Given the description of an element on the screen output the (x, y) to click on. 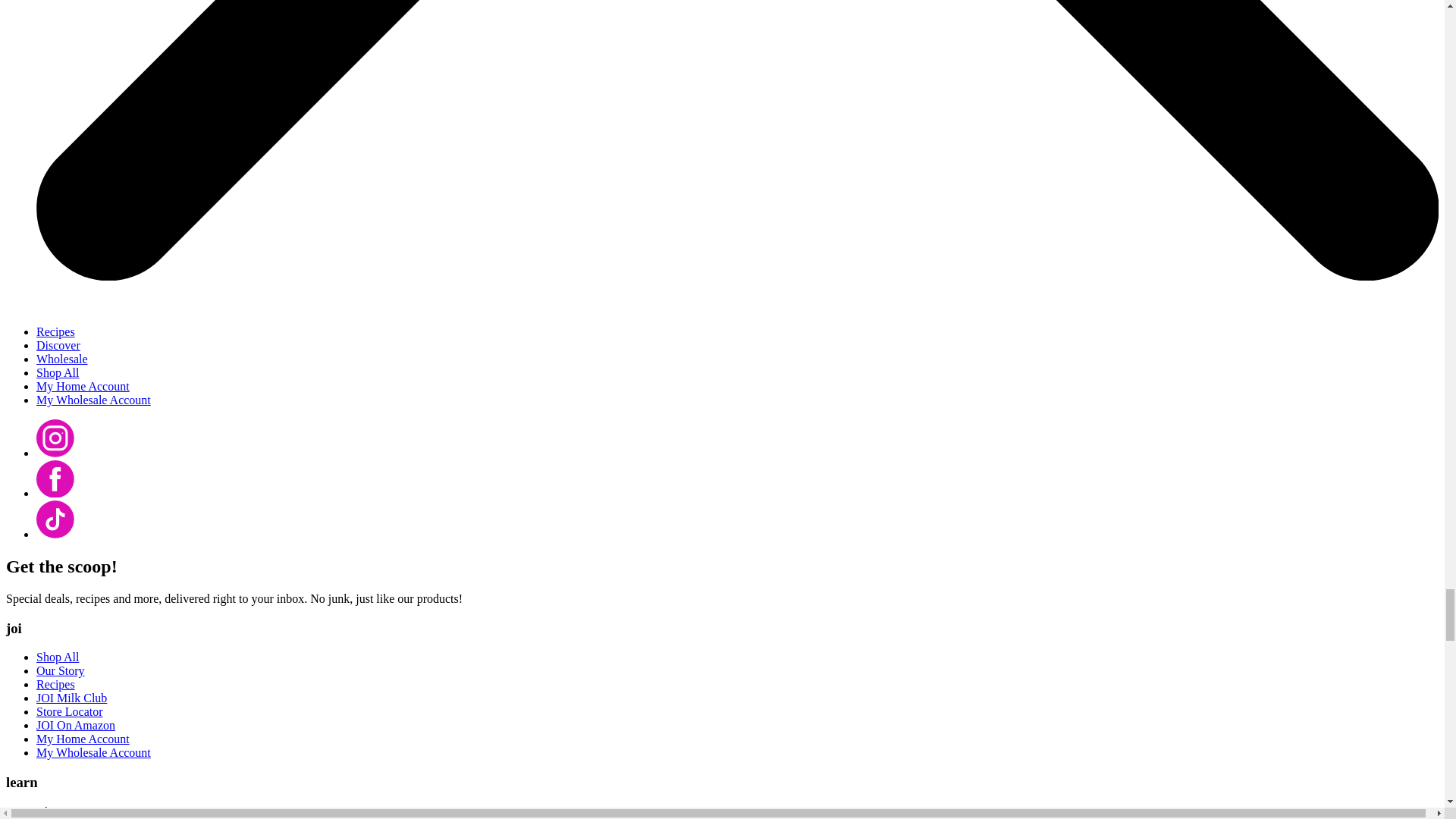
Discover (58, 345)
Recipes (55, 684)
Shop All (57, 372)
Wholesale (61, 358)
JOI Milk Club (71, 697)
Store Locator (69, 711)
My Home Account (82, 386)
Our Story (60, 670)
Recipes (55, 331)
Shop All (57, 656)
My Wholesale Account (93, 399)
